Given the description of an element on the screen output the (x, y) to click on. 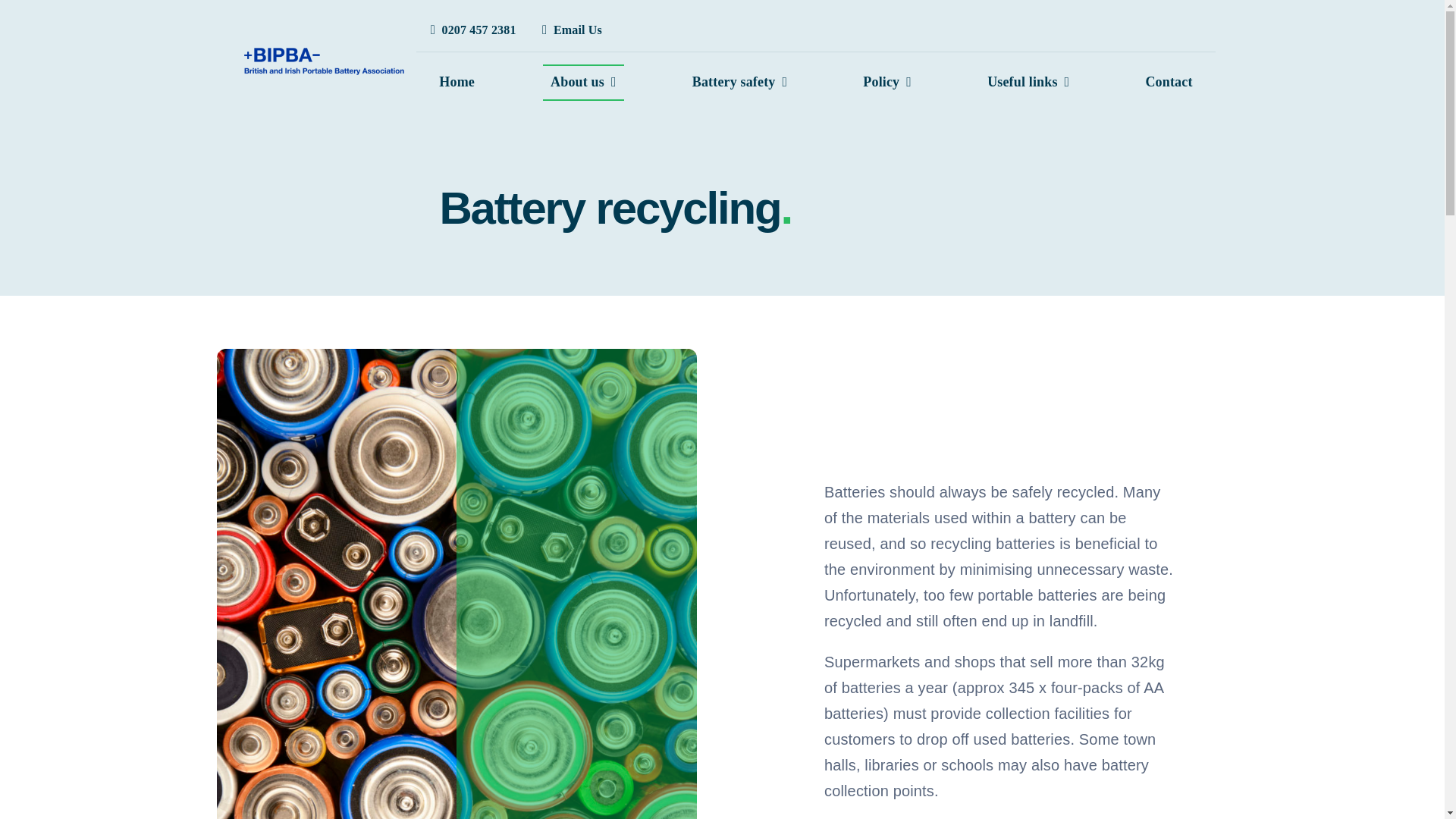
0207 457 2381 (469, 30)
Policy (887, 82)
About us (583, 82)
Contact (1168, 82)
Useful links (1028, 82)
Email Us (569, 30)
Home (455, 82)
Battery safety (739, 82)
